Given the description of an element on the screen output the (x, y) to click on. 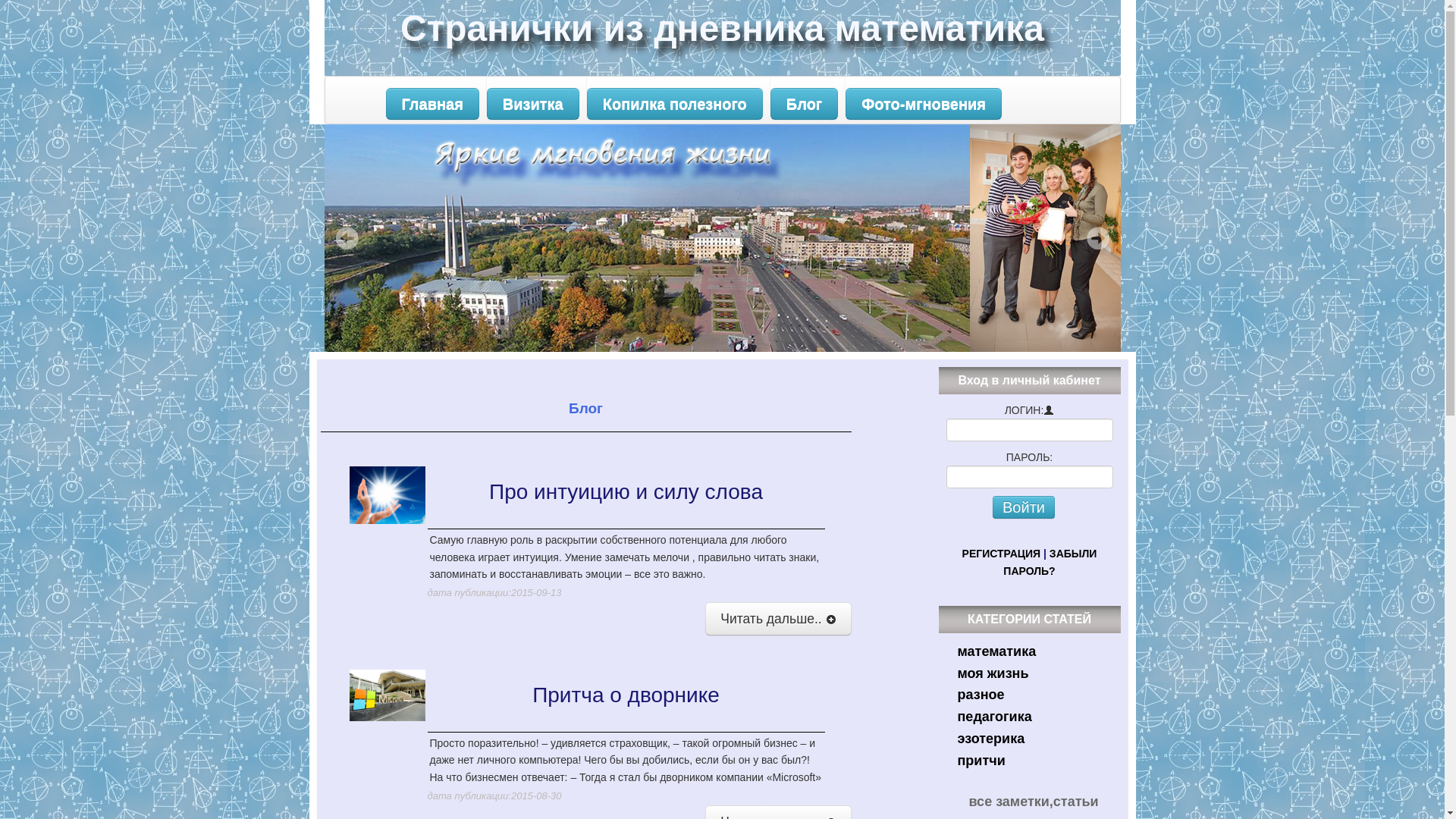
Prev Element type: text (346, 237)
Next Element type: text (1096, 237)
